Given the description of an element on the screen output the (x, y) to click on. 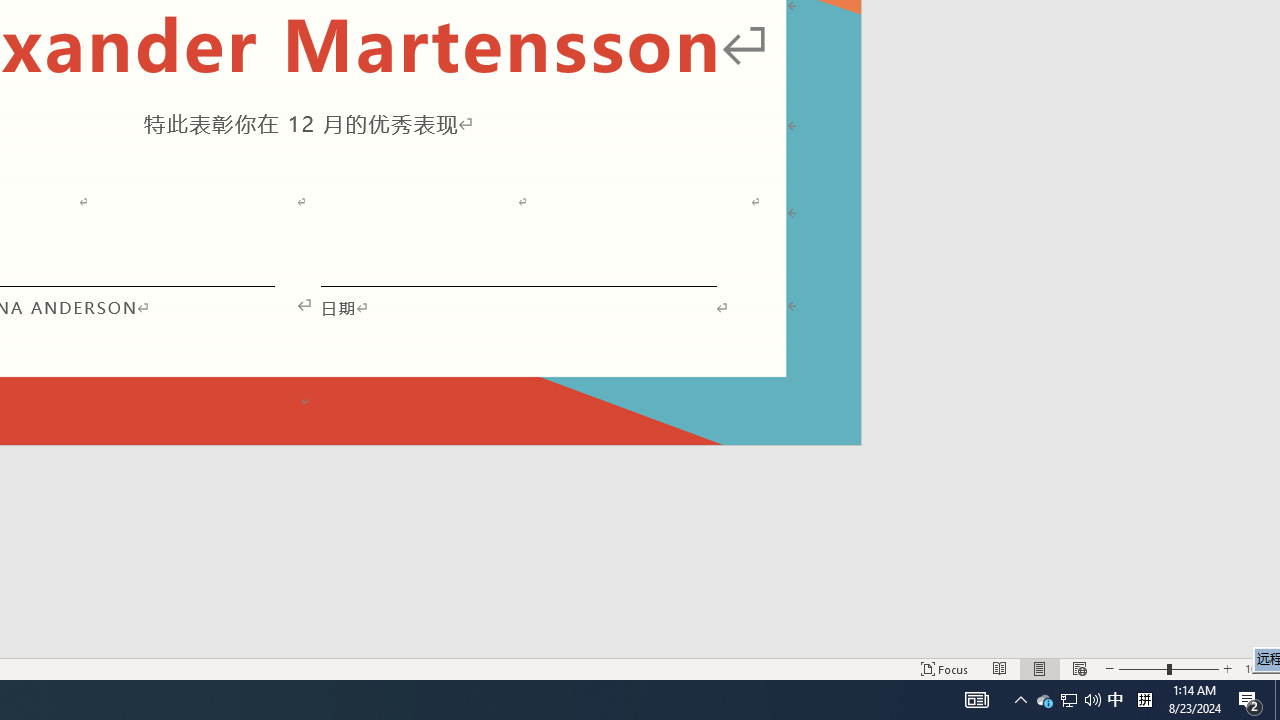
Zoom 100% (1258, 668)
Zoom (1168, 668)
